Given the description of an element on the screen output the (x, y) to click on. 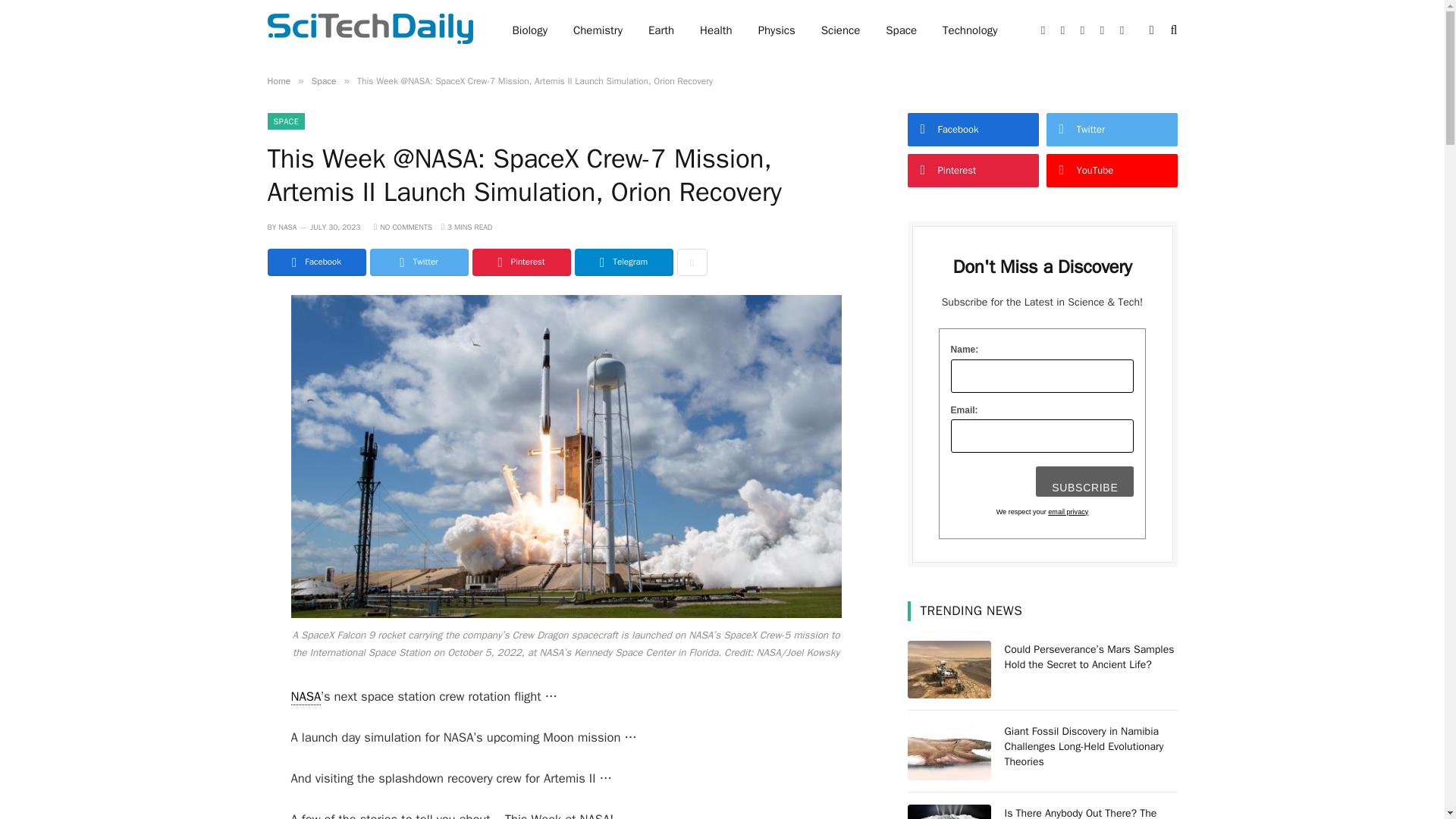
Health (716, 30)
SciTechDaily (368, 30)
Technology (970, 30)
Share on Facebook (315, 262)
Biology (529, 30)
Facebook (315, 262)
Physics (776, 30)
Subscribe (1084, 481)
Twitter (418, 262)
Space (901, 30)
